Given the description of an element on the screen output the (x, y) to click on. 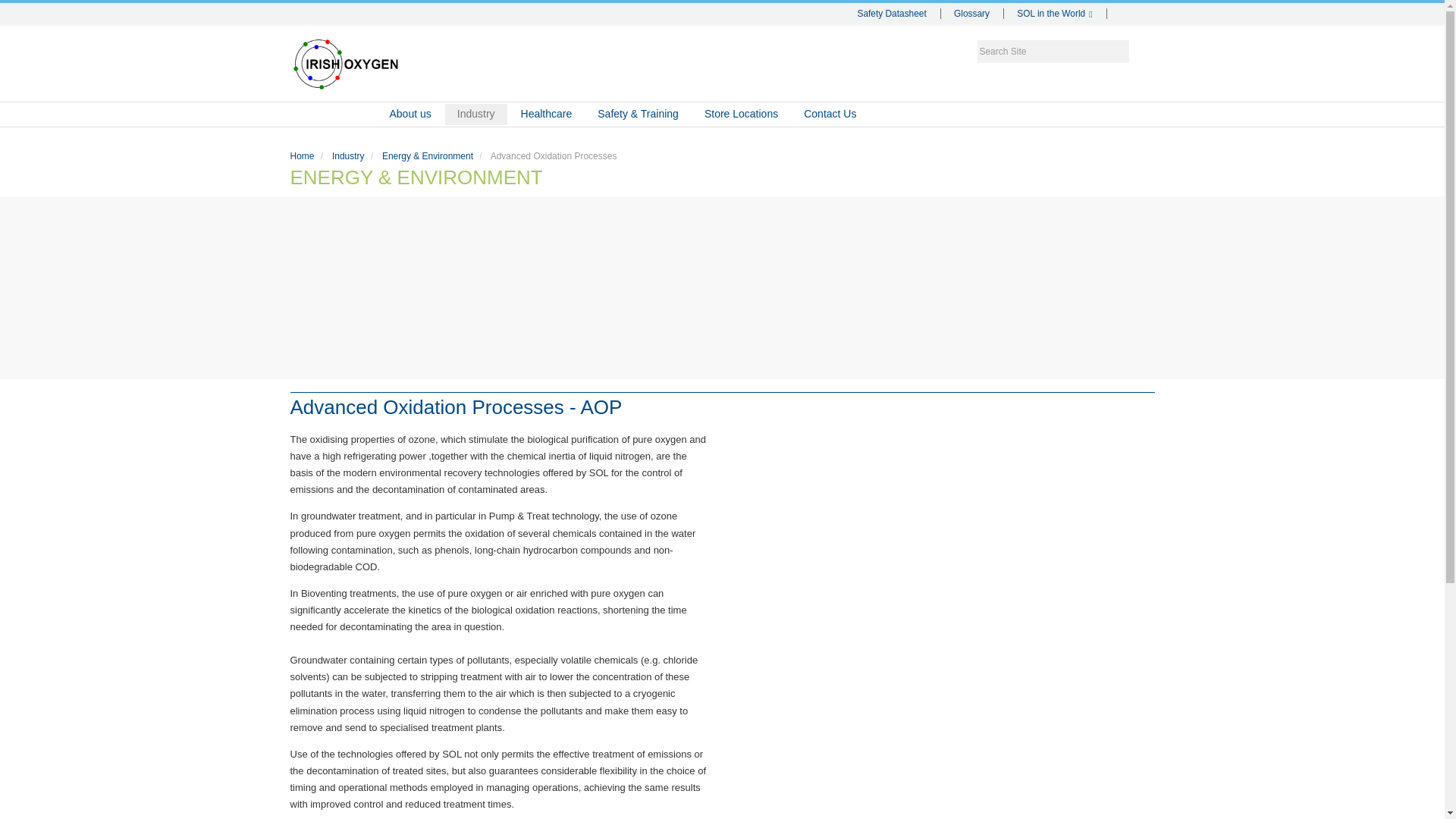
SOL in the World (1056, 13)
Safety Datasheet (892, 13)
Home (333, 114)
Skip to content. (307, 46)
SOL in the World (1056, 13)
Search Site (1052, 51)
Glossary (973, 13)
Glossary (973, 13)
